Given the description of an element on the screen output the (x, y) to click on. 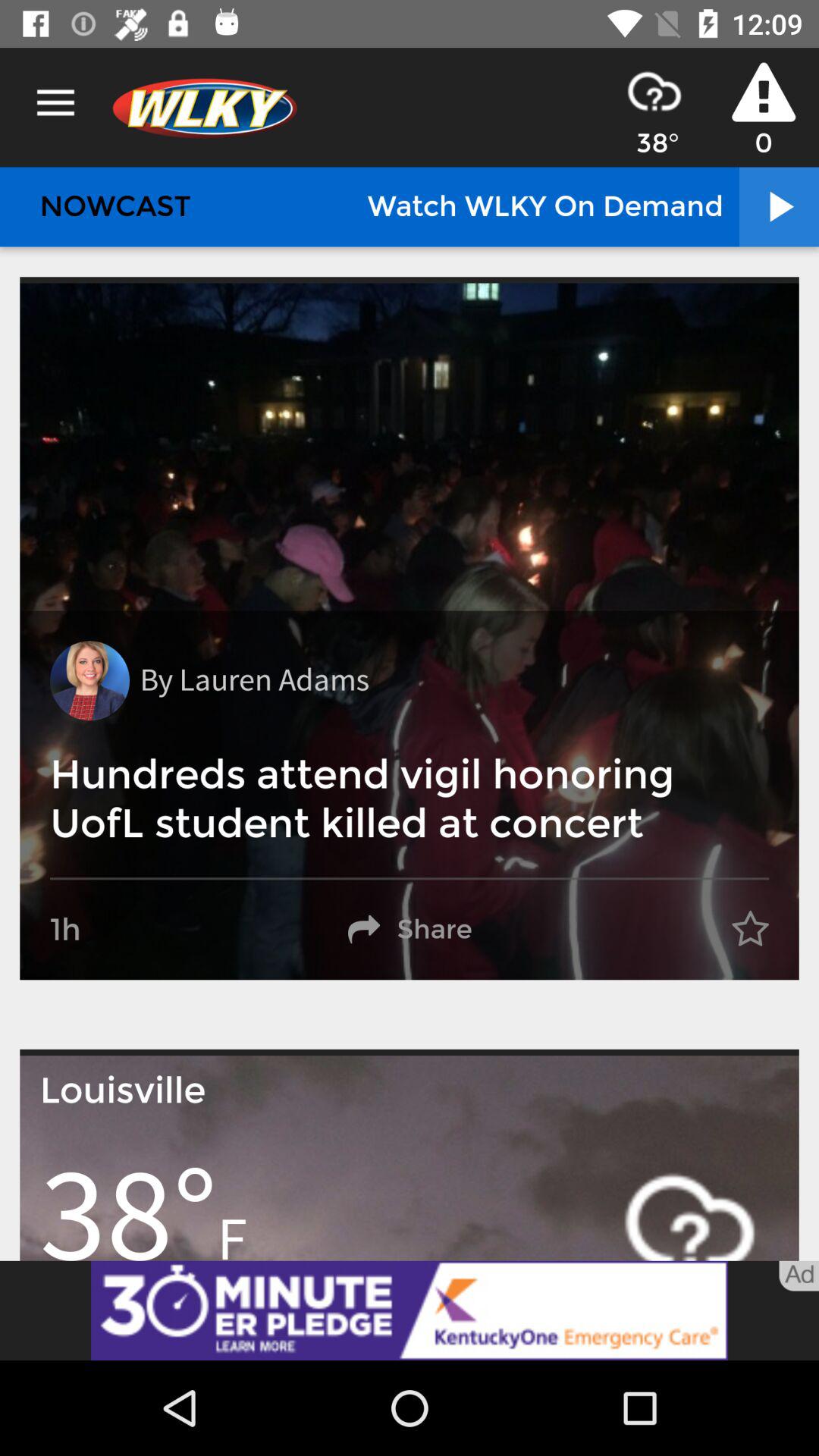
advertisement (409, 1310)
